Given the description of an element on the screen output the (x, y) to click on. 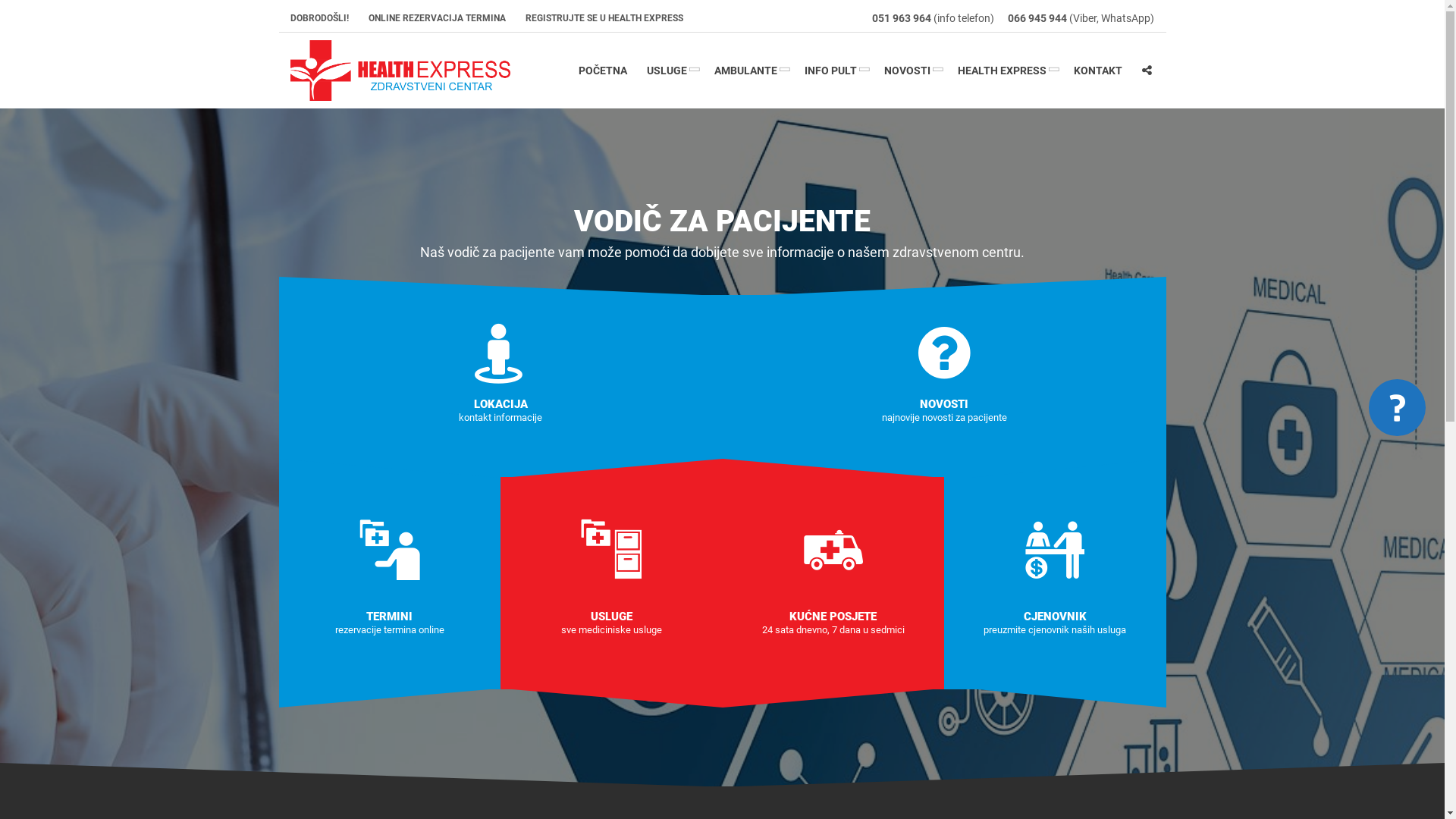
AMBULANTE Element type: text (748, 70)
NOVOSTI Element type: text (910, 70)
ONLINE REZERVACIJA TERMINA Element type: text (435, 18)
INFO PULT Element type: text (834, 70)
REGISTRUJTE SE U HEALTH EXPRESS Element type: text (599, 18)
USLUGE Element type: text (670, 70)
KONTAKT Element type: text (1097, 70)
HEALTH EXPRESS Element type: text (1005, 70)
